Given the description of an element on the screen output the (x, y) to click on. 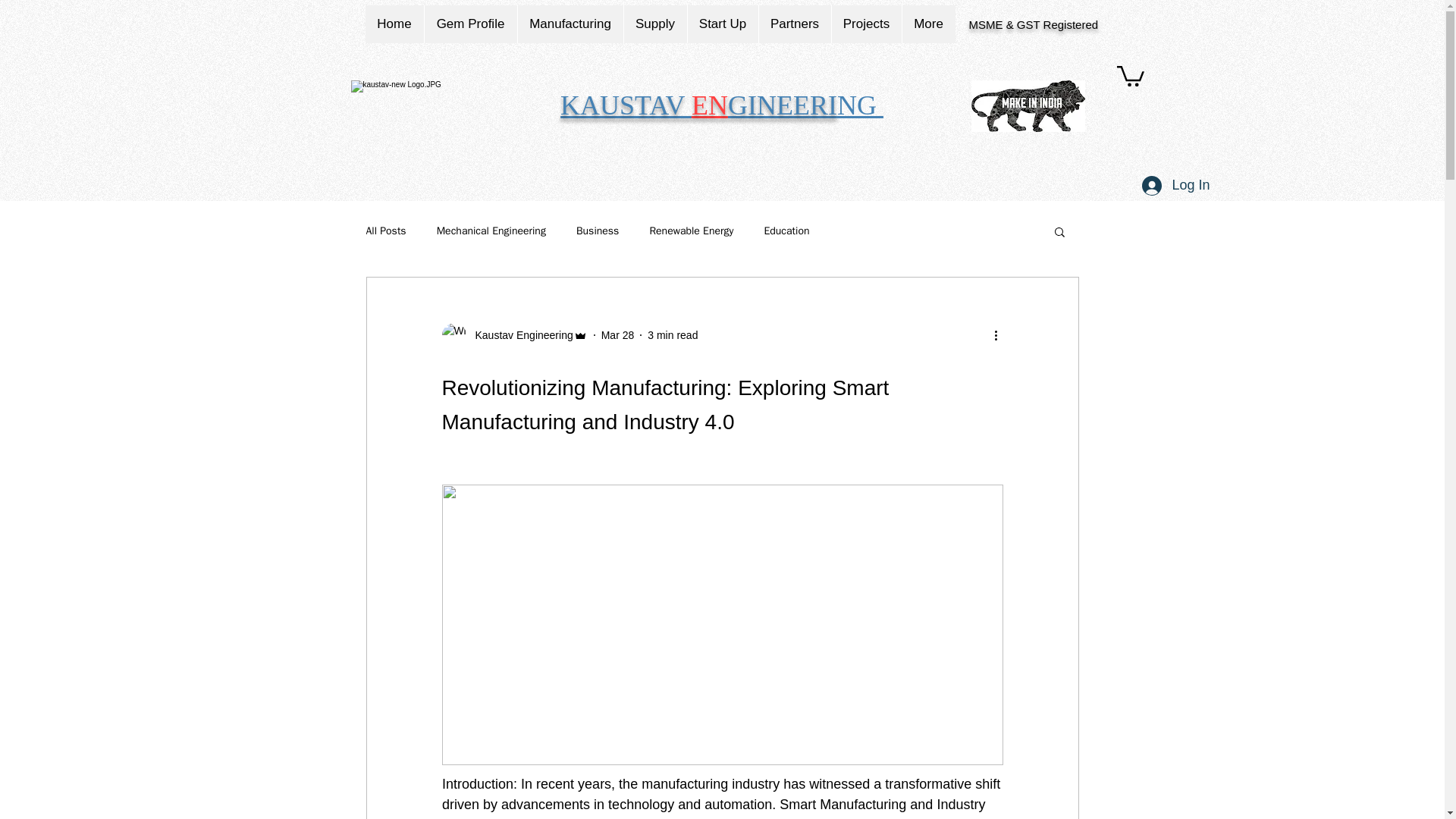
Business (597, 231)
Education (785, 231)
All Posts (385, 231)
Partners (794, 23)
Kaustav Engineering (513, 334)
Supply (655, 23)
Start Up (722, 23)
Home (394, 23)
GINEERING  (805, 105)
KAUSTAV (625, 105)
3 min read (672, 335)
EN (709, 105)
Gem Profile (469, 23)
Projects (866, 23)
Mechanical Engineering (491, 231)
